Given the description of an element on the screen output the (x, y) to click on. 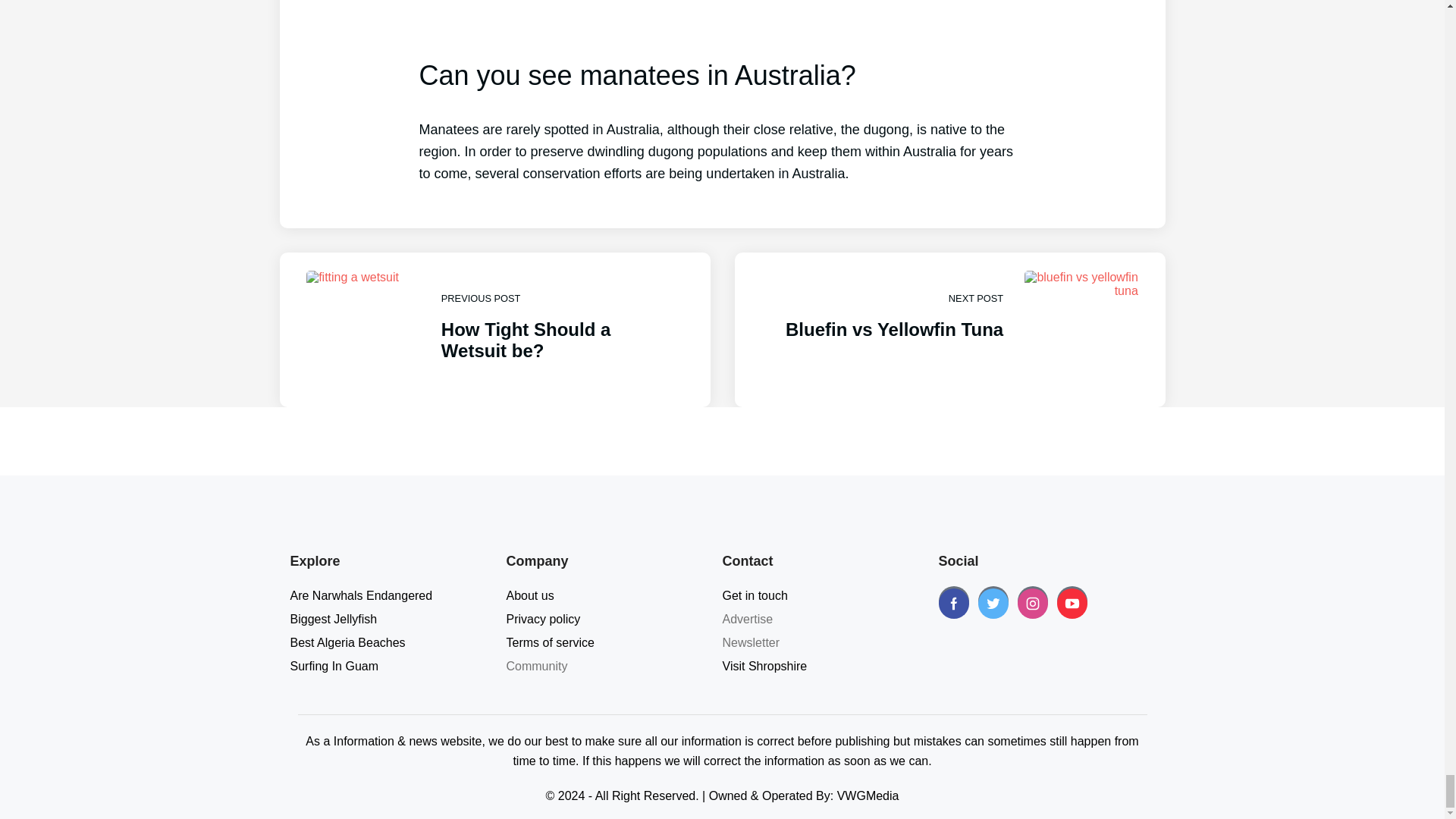
Biggest Jellyfish (333, 618)
Community (536, 666)
About us (530, 594)
Are Narwhals Endangered (360, 594)
Best Algeria Beaches (948, 329)
Get in touch (346, 642)
Terms of service (754, 594)
Visit Shropshire (550, 642)
Privacy policy (764, 666)
